Given the description of an element on the screen output the (x, y) to click on. 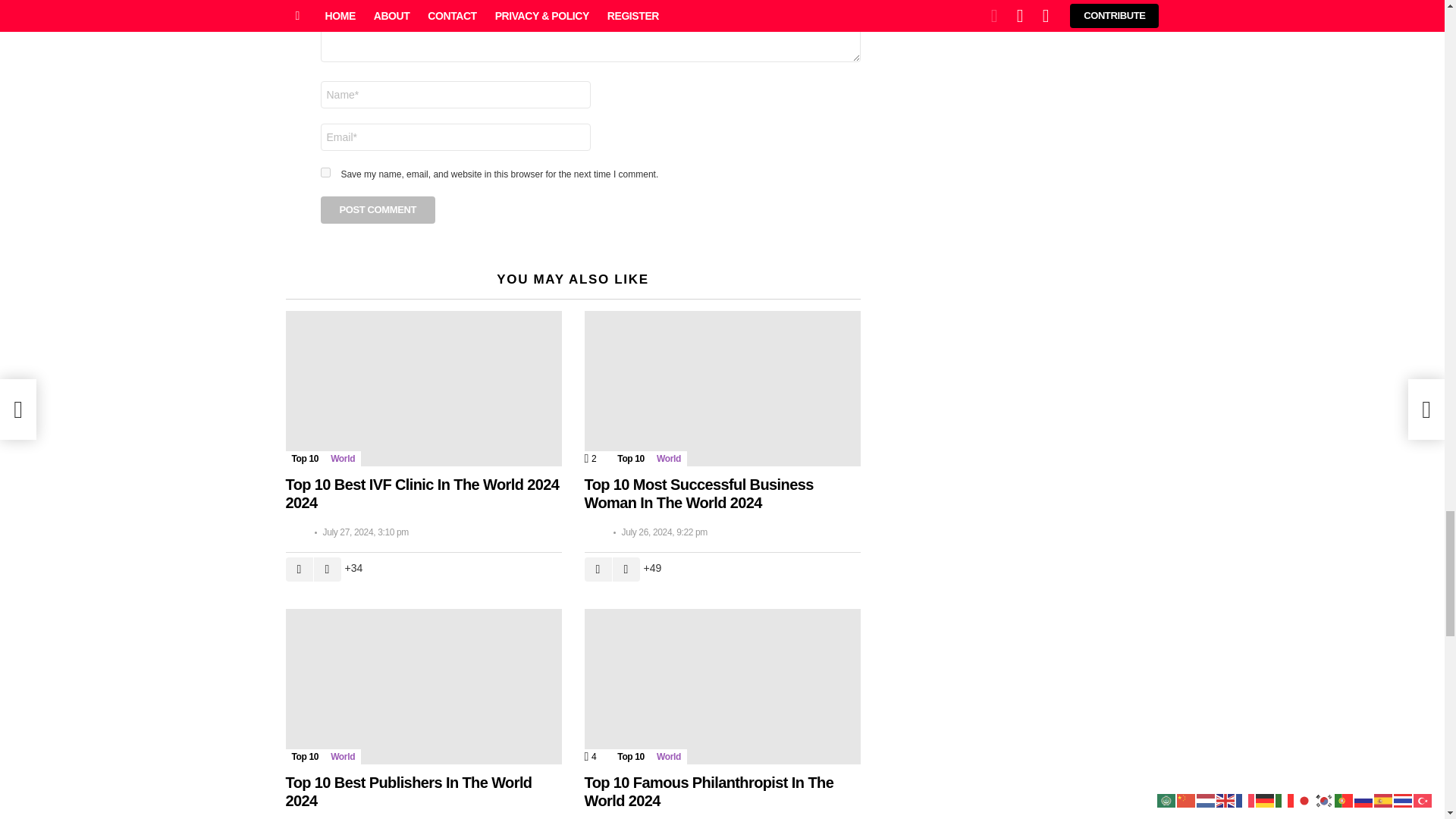
Post Comment (377, 209)
Top 10 Best IVF Clinic In The World 2024 2024 (422, 388)
yes (325, 172)
Downvote (327, 569)
Upvote (299, 569)
